Given the description of an element on the screen output the (x, y) to click on. 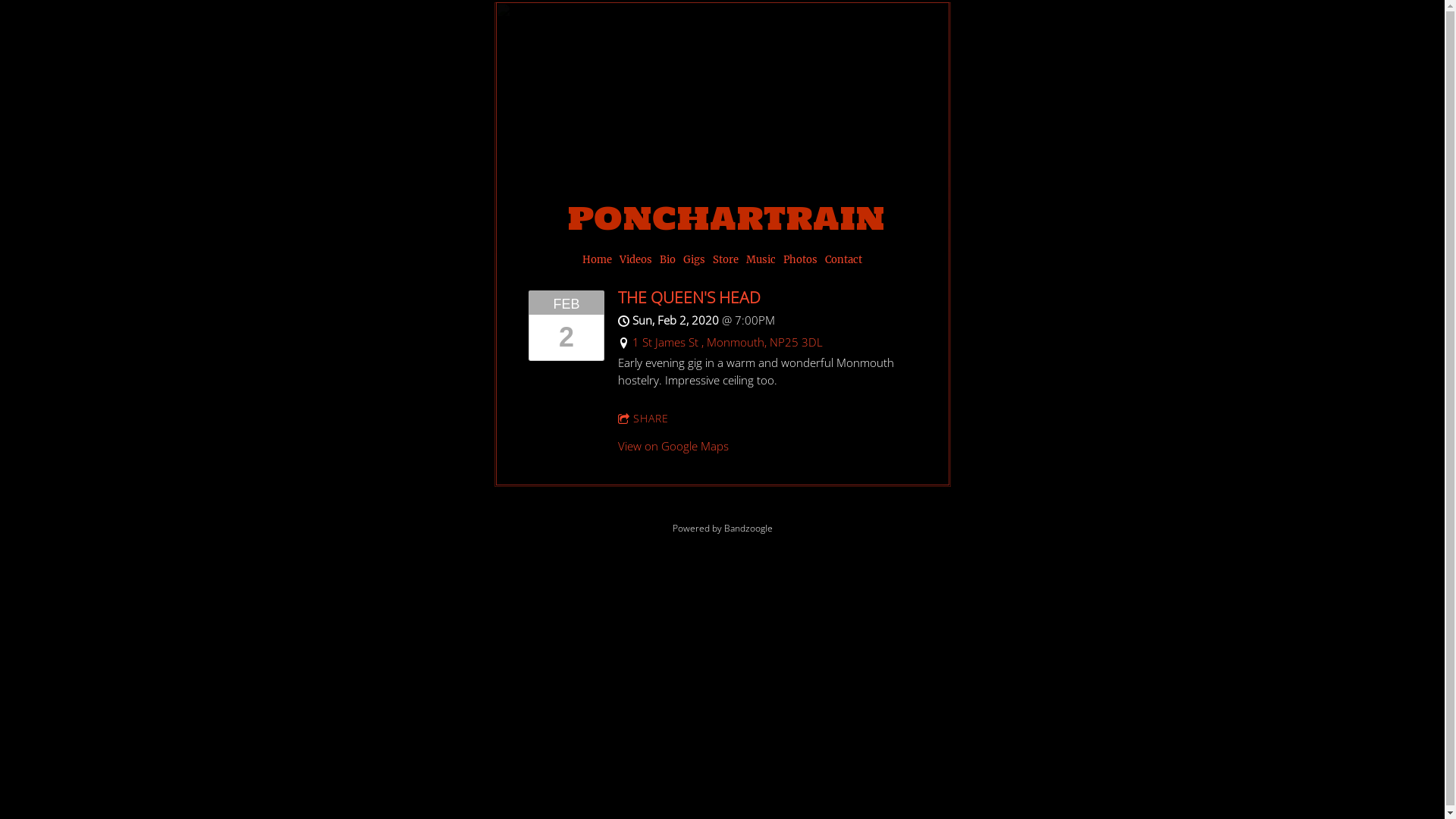
PONCHARTRAIN Element type: text (729, 200)
SHARE Element type: text (642, 418)
Music Element type: text (760, 259)
1 St James St , Monmouth, NP25 3DL Element type: text (727, 341)
Store Element type: text (725, 259)
Home Element type: text (596, 259)
Photos Element type: text (800, 259)
Contact Element type: text (843, 259)
Bio Element type: text (667, 259)
Gigs Element type: text (694, 259)
THE QUEEN'S HEAD Element type: text (688, 296)
View on Google Maps Element type: text (672, 445)
Powered by Bandzoogle Element type: text (721, 527)
Videos Element type: text (635, 259)
